Given the description of an element on the screen output the (x, y) to click on. 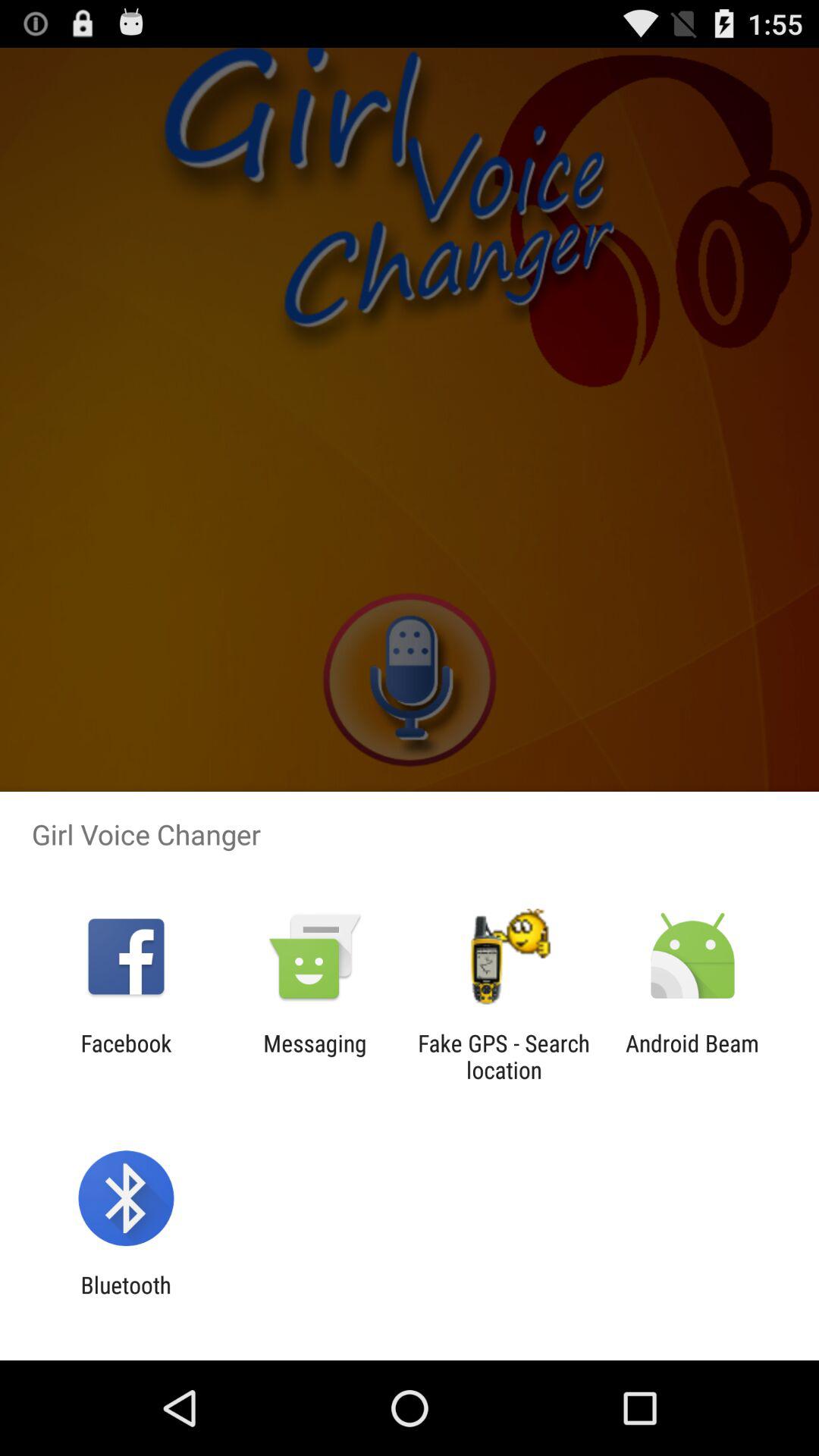
open icon next to the android beam item (503, 1056)
